Given the description of an element on the screen output the (x, y) to click on. 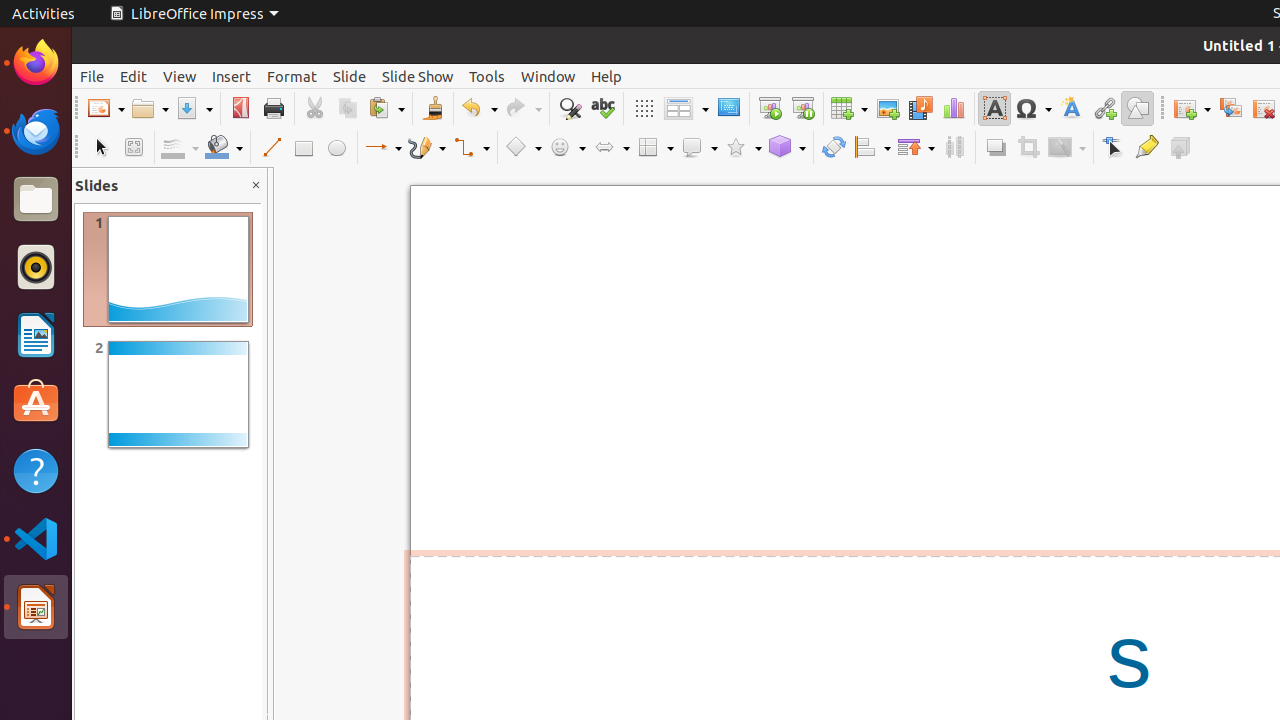
Clone Element type: push-button (432, 108)
Tools Element type: menu (487, 76)
Duplicate Slide Element type: push-button (1230, 108)
Start from Current Slide Element type: push-button (802, 108)
Star Shapes Element type: push-button (743, 147)
